Given the description of an element on the screen output the (x, y) to click on. 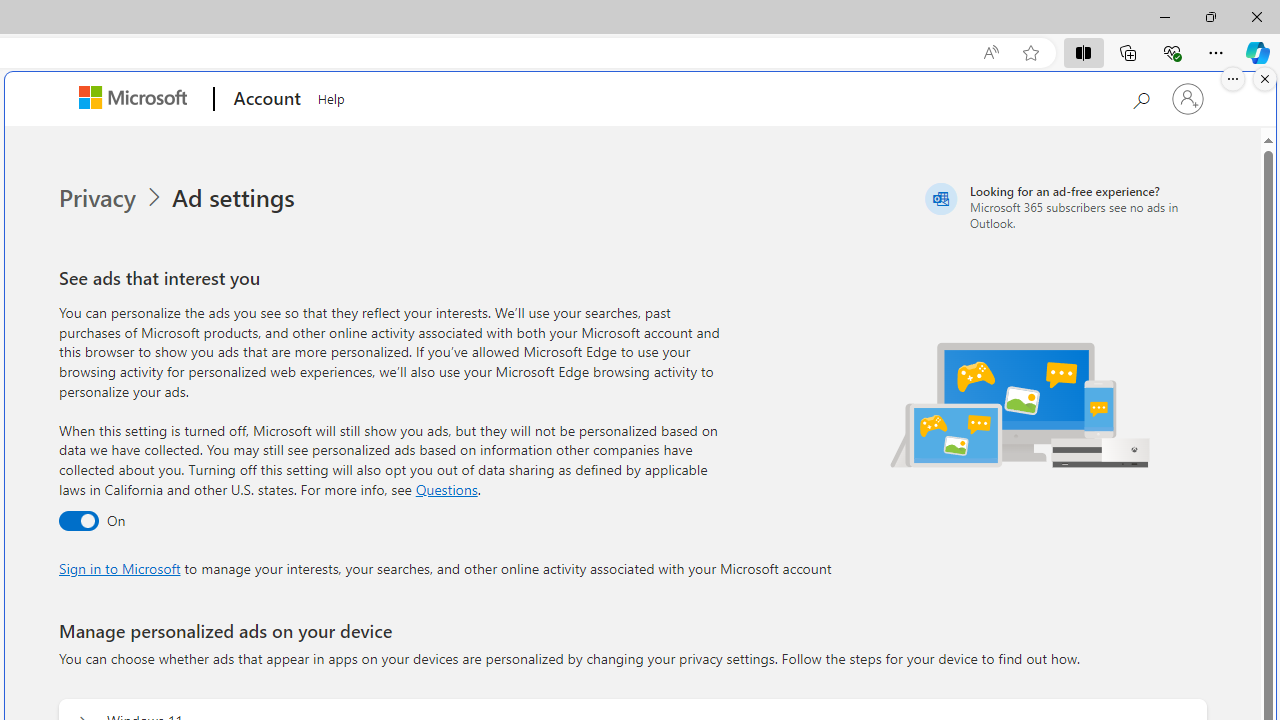
Illustration of multiple devices (1021, 403)
Help (331, 96)
Go to Questions section (445, 488)
Search Microsoft.com (1140, 97)
Help (331, 96)
Privacy (98, 197)
Looking for an ad-free experience? (1063, 206)
Ad settings (236, 197)
More options. (1233, 79)
